Given the description of an element on the screen output the (x, y) to click on. 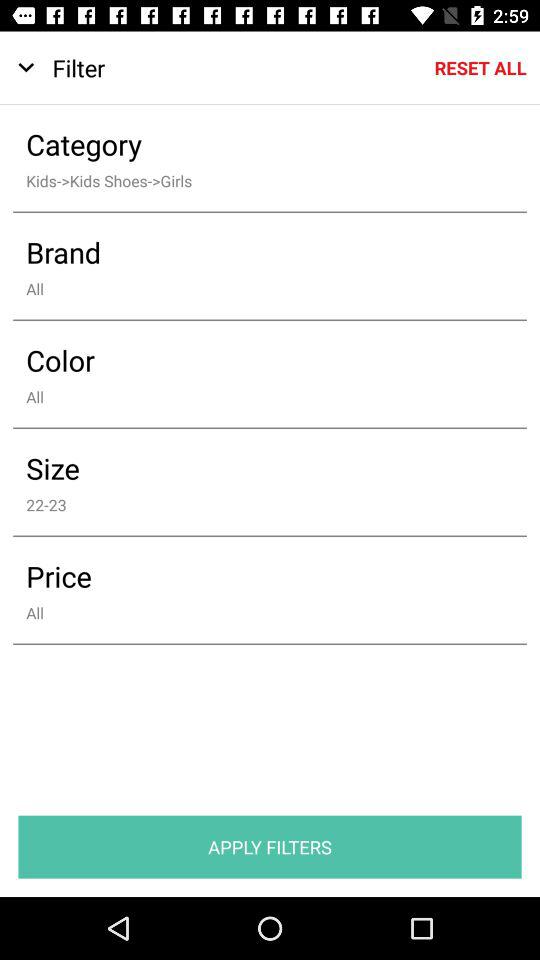
click icon above the all (256, 575)
